Given the description of an element on the screen output the (x, y) to click on. 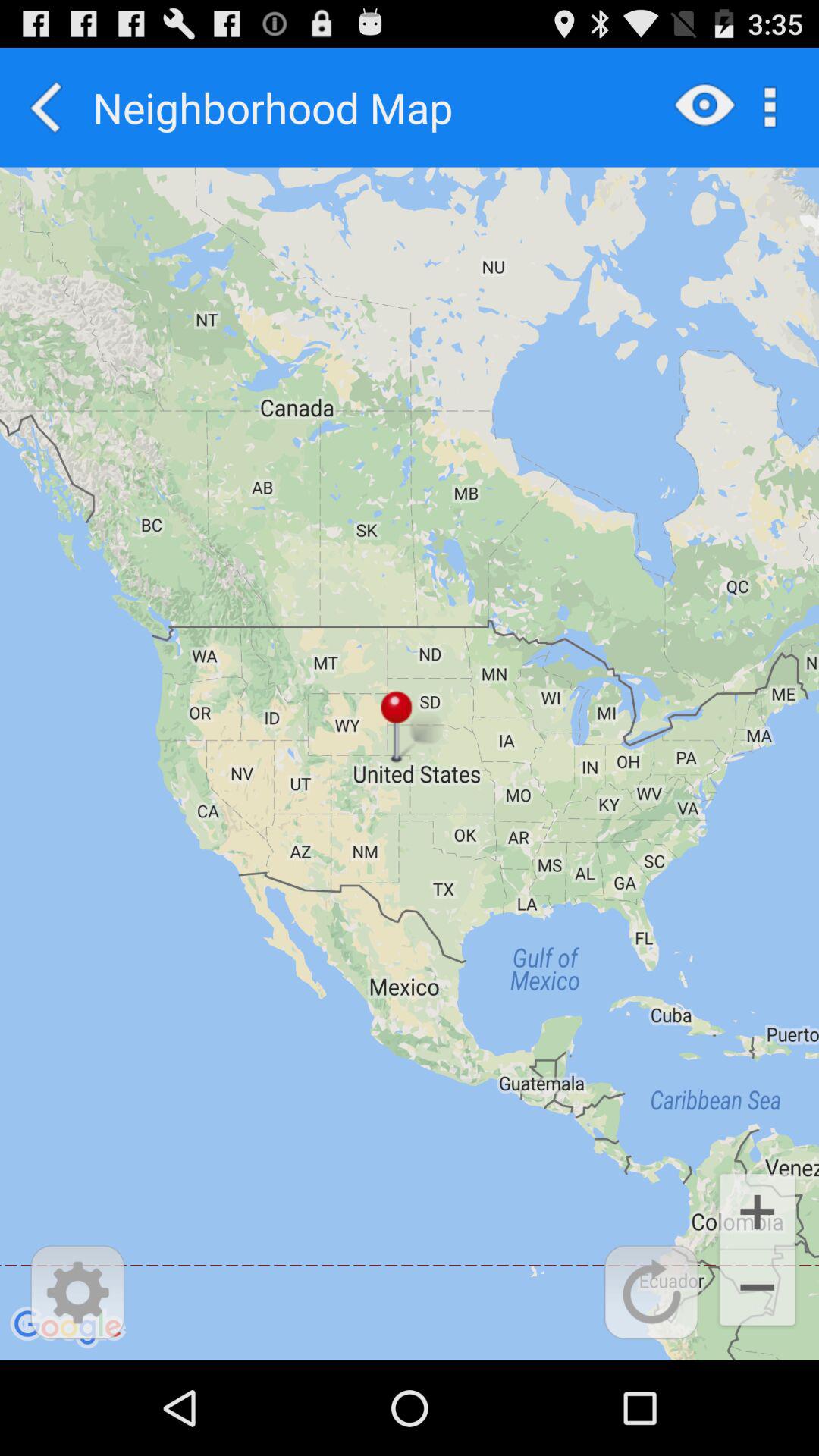
refresh map (651, 1292)
